Given the description of an element on the screen output the (x, y) to click on. 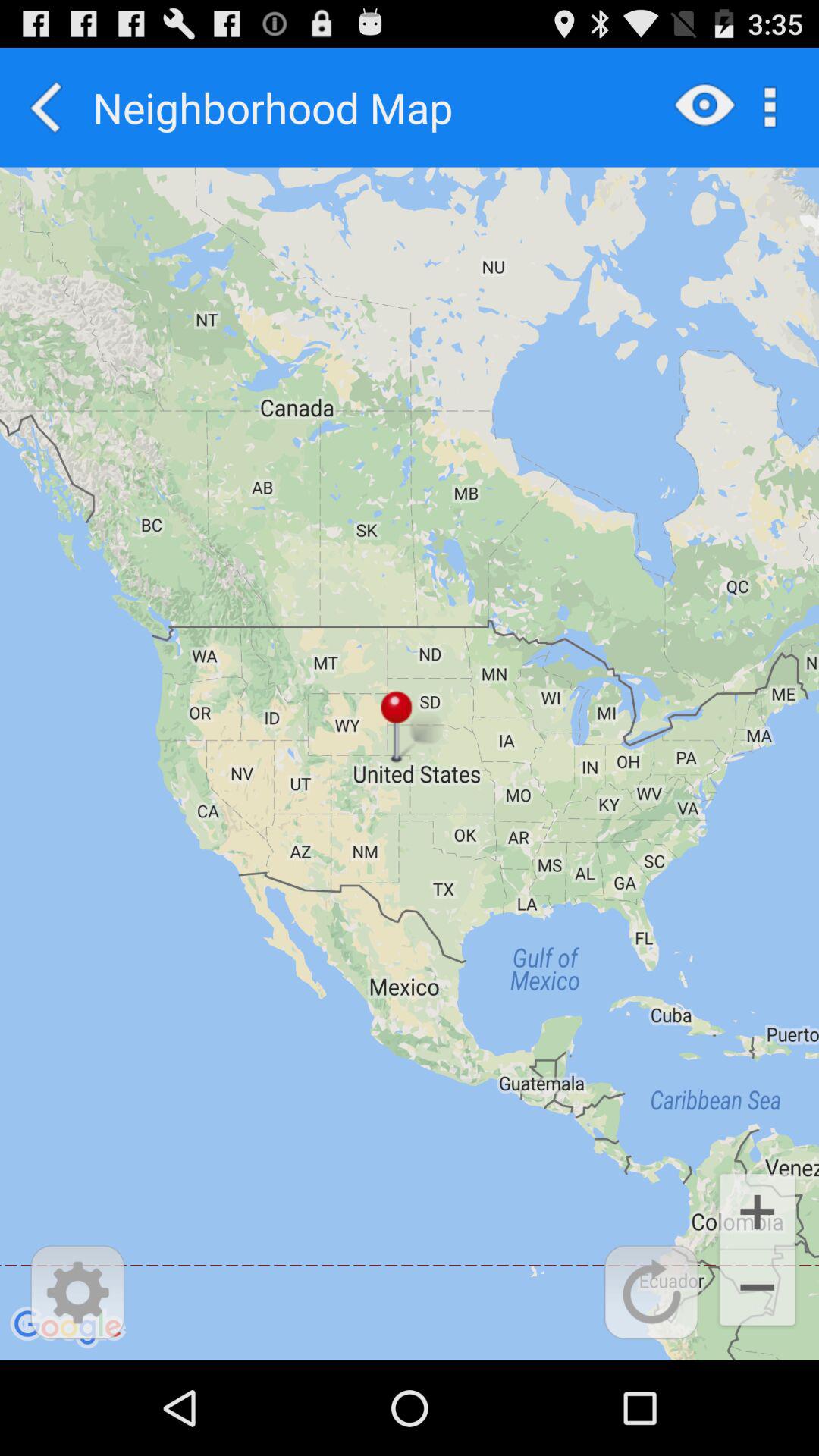
refresh map (651, 1292)
